Given the description of an element on the screen output the (x, y) to click on. 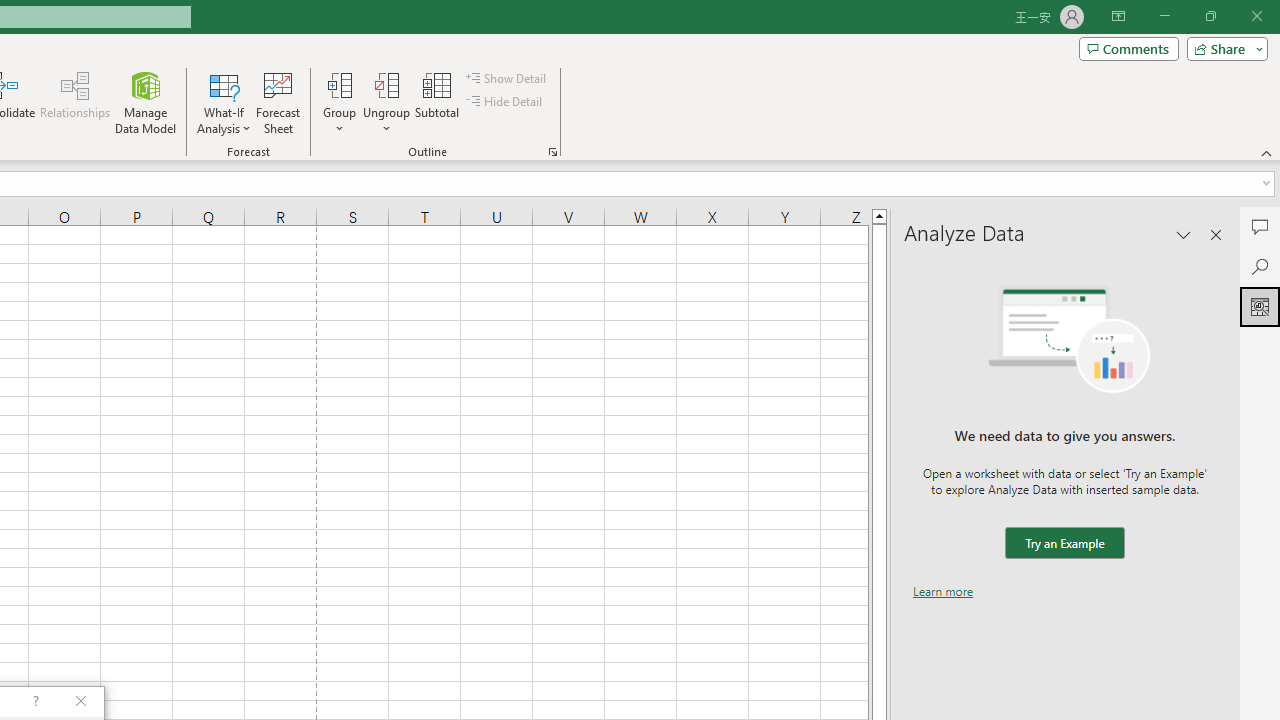
Subtotal (437, 102)
Group and Outline Settings (552, 151)
Learn more (943, 591)
Show Detail (507, 78)
What-If Analysis (223, 102)
Search (1260, 266)
Group... (339, 84)
Manage Data Model (145, 102)
